Given the description of an element on the screen output the (x, y) to click on. 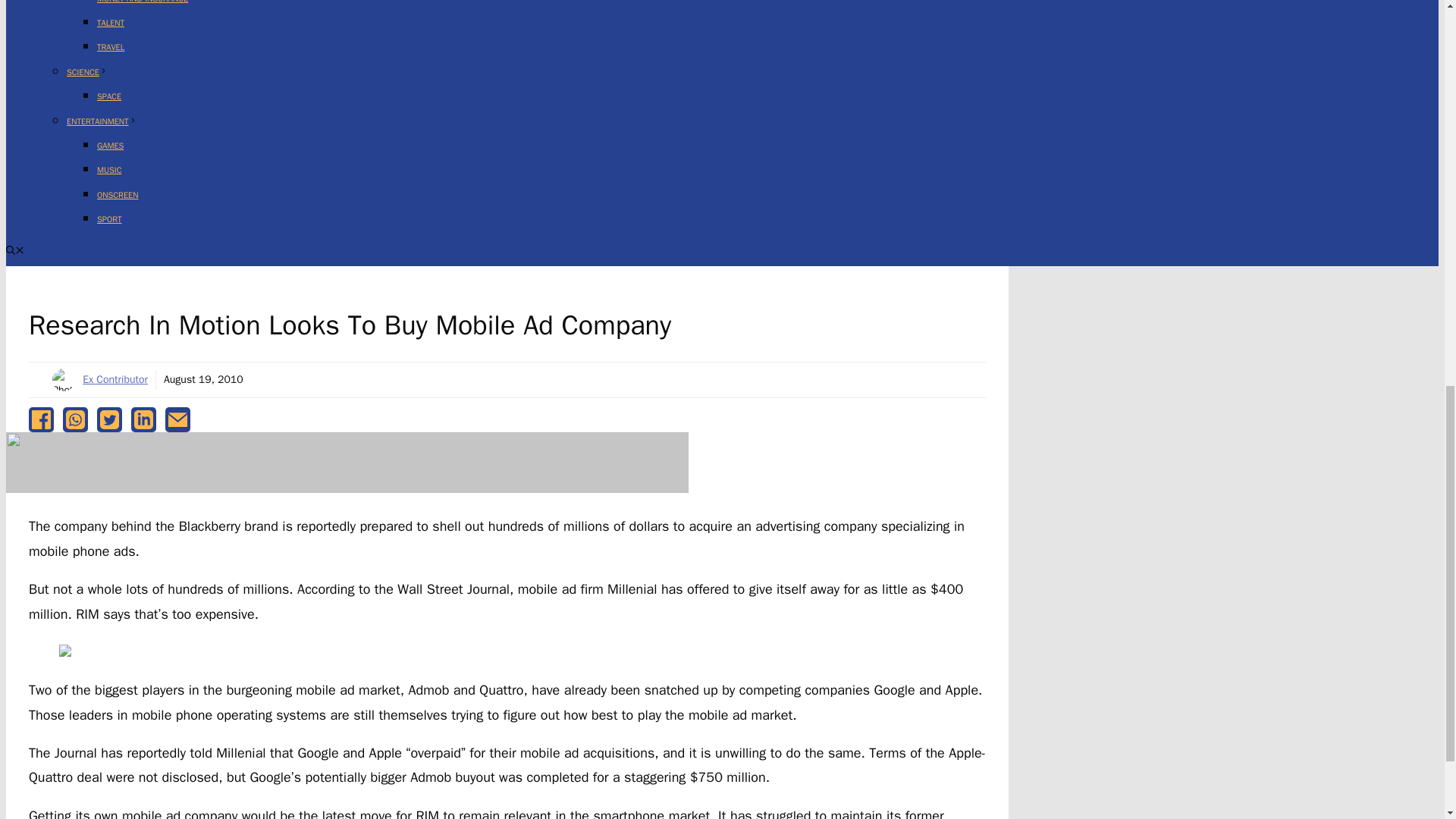
MUSIC (109, 169)
SPACE (108, 95)
TALENT (110, 22)
ENTERTAINMENT (101, 121)
SCIENCE (86, 71)
MONEY AND INSURANCE (142, 2)
TRAVEL (110, 46)
GAMES (110, 145)
